Given the description of an element on the screen output the (x, y) to click on. 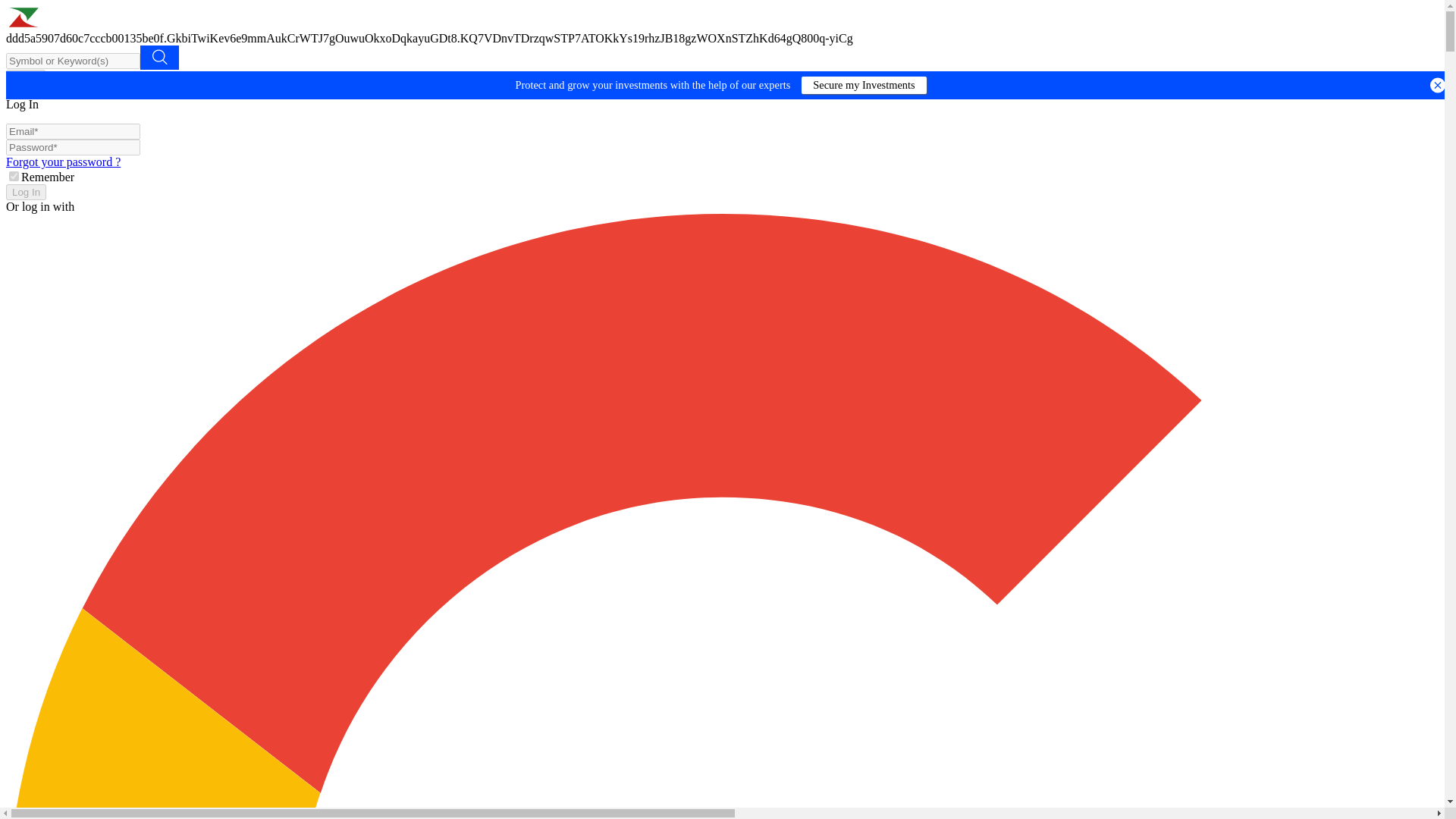
Log In (25, 191)
Log in (25, 77)
Advanced search (159, 57)
Forgot your password ? (62, 161)
on (13, 175)
Marketscreener: stock market and financial news (108, 24)
